Given the description of an element on the screen output the (x, y) to click on. 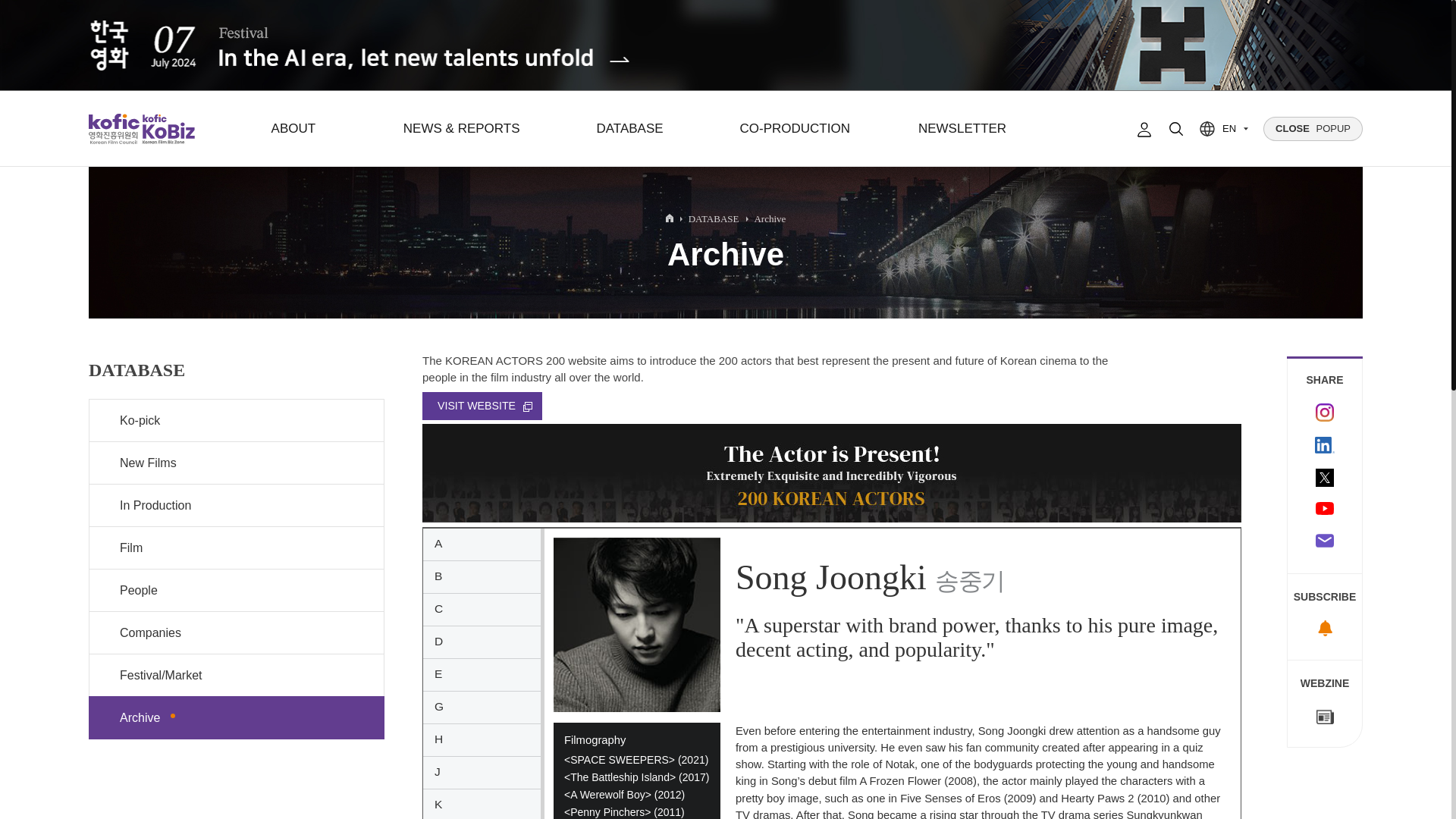
Kofic (113, 128)
NEWSLETTER (962, 128)
VISIT WEBSITE (481, 406)
DATABASE (628, 128)
CO-PRODUCTION (793, 128)
DATABASE (628, 128)
Login (1144, 128)
Kobiz (167, 128)
POPUP (1312, 128)
ABOUT (292, 128)
NEWSLETTER (962, 128)
Search open (1176, 128)
ABOUT (292, 128)
CO-PRODUCTION (793, 128)
